Given the description of an element on the screen output the (x, y) to click on. 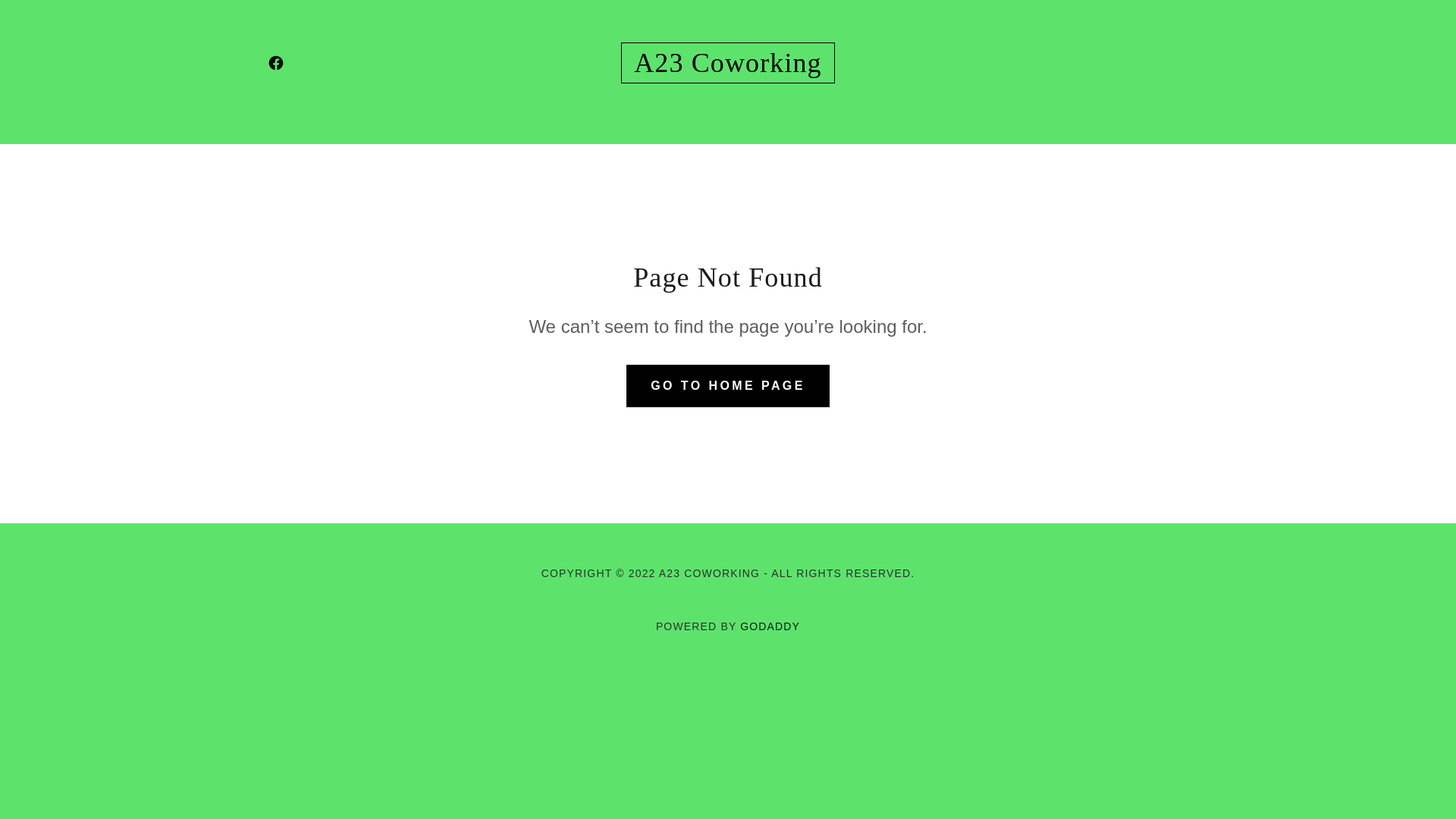
A23 Coworking Element type: text (727, 67)
GODADDY Element type: text (770, 626)
GO TO HOME PAGE Element type: text (727, 385)
